Given the description of an element on the screen output the (x, y) to click on. 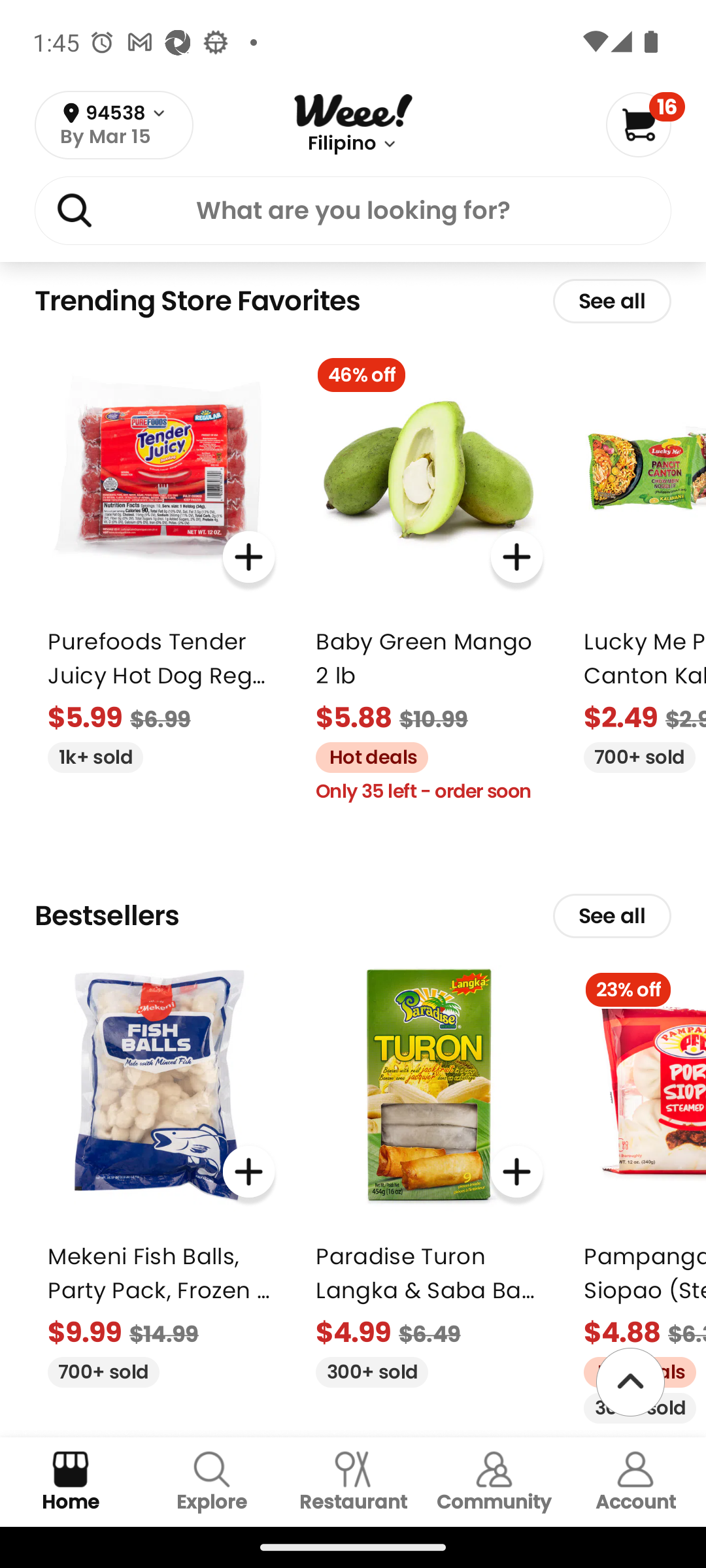
94538 By Mar 15 (113, 124)
16 (644, 124)
Filipino (341, 143)
What are you looking for? (353, 213)
Hot deals (364, 754)
Home (70, 1482)
Explore (211, 1482)
Restaurant (352, 1482)
Community (493, 1482)
Account (635, 1482)
